Given the description of an element on the screen output the (x, y) to click on. 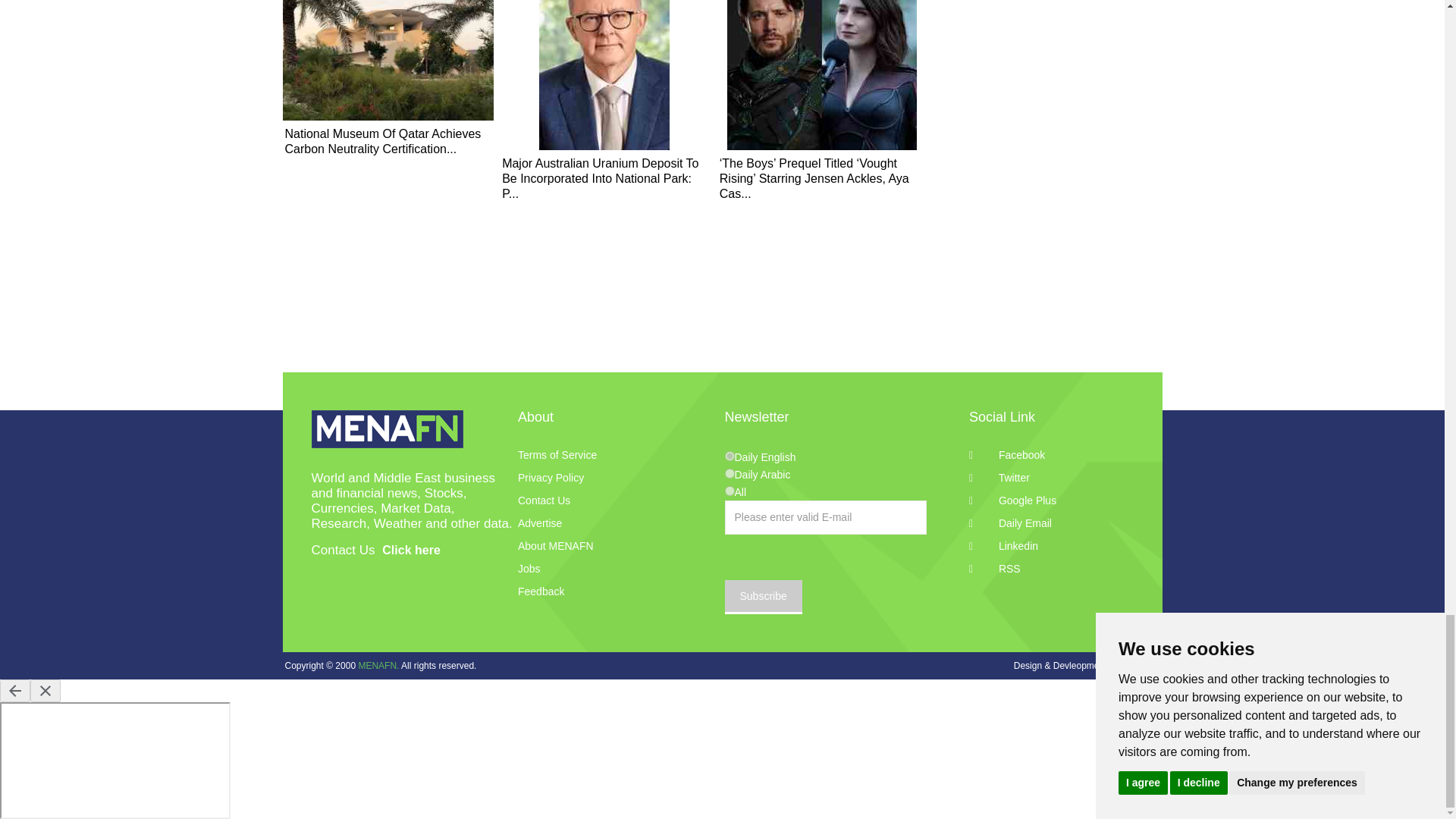
Advertisement (1047, 13)
Subscribe (763, 596)
